Given the description of an element on the screen output the (x, y) to click on. 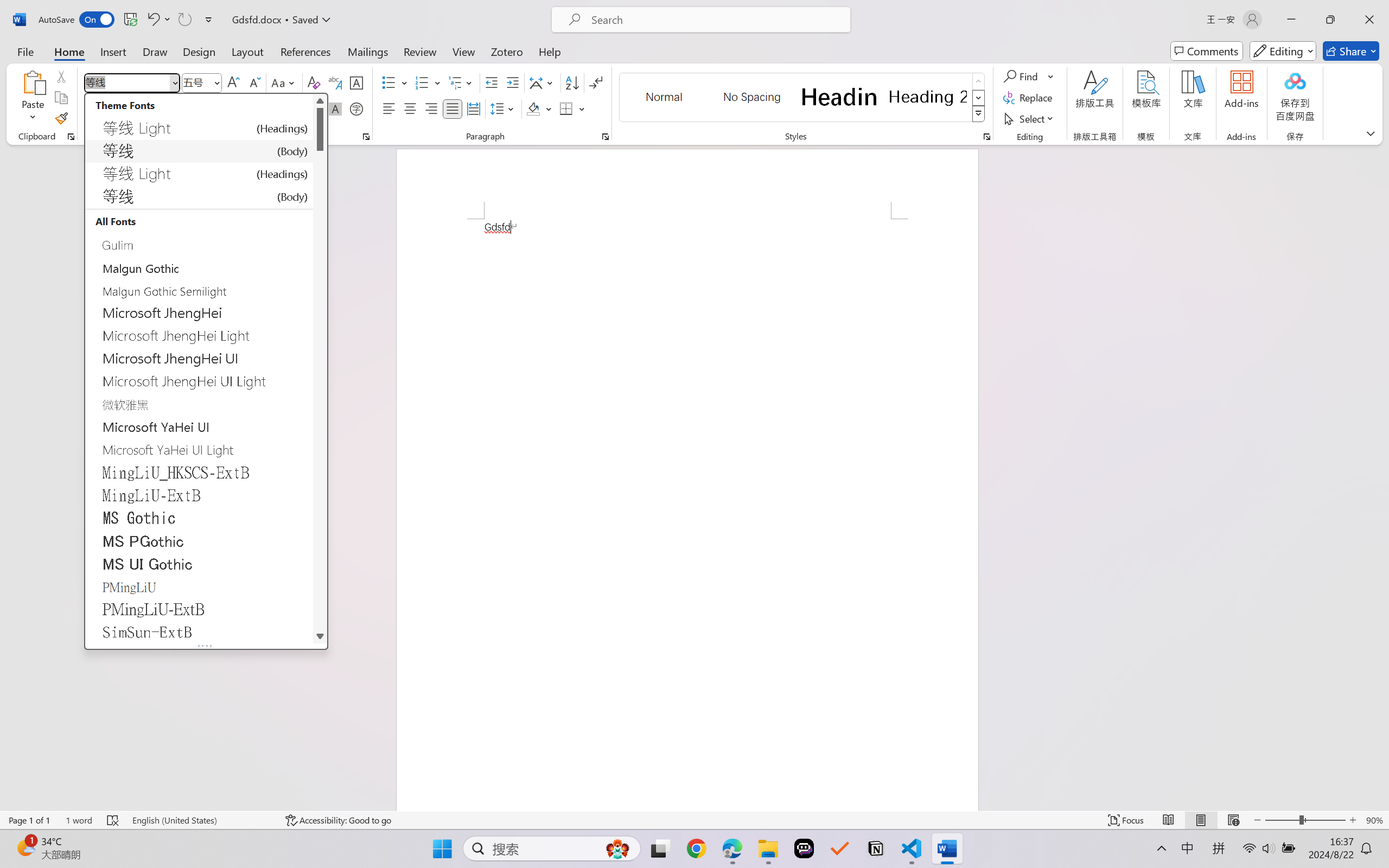
MS UI Gothic (198, 563)
Microsoft YaHei Light (198, 403)
Format Painter (60, 118)
Line up (319, 100)
Text Highlight Color (274, 108)
Copy (60, 97)
Distributed (473, 108)
